Given the description of an element on the screen output the (x, y) to click on. 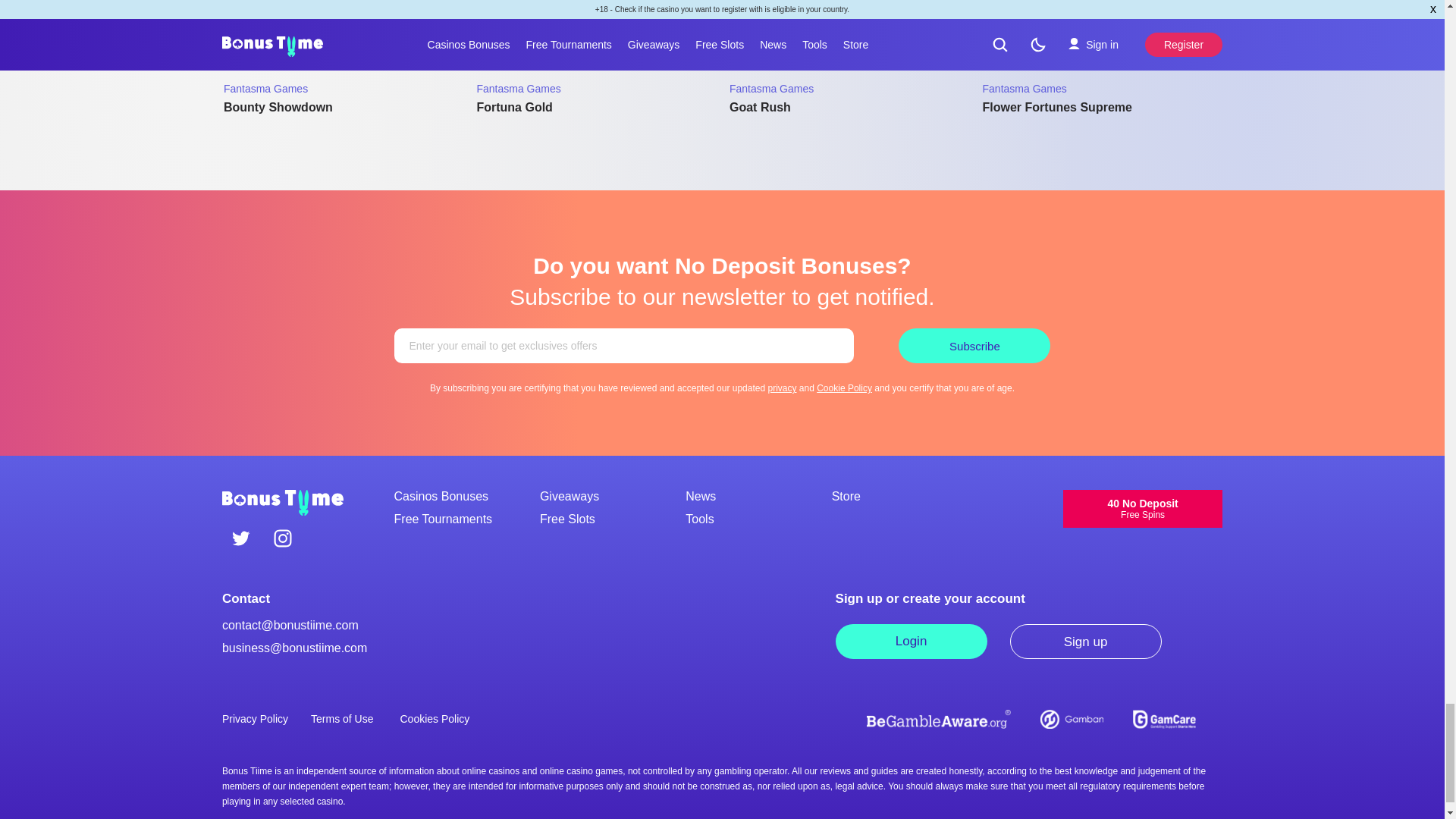
Instagram (282, 539)
Twitter (241, 539)
Subscribe (973, 345)
